Given the description of an element on the screen output the (x, y) to click on. 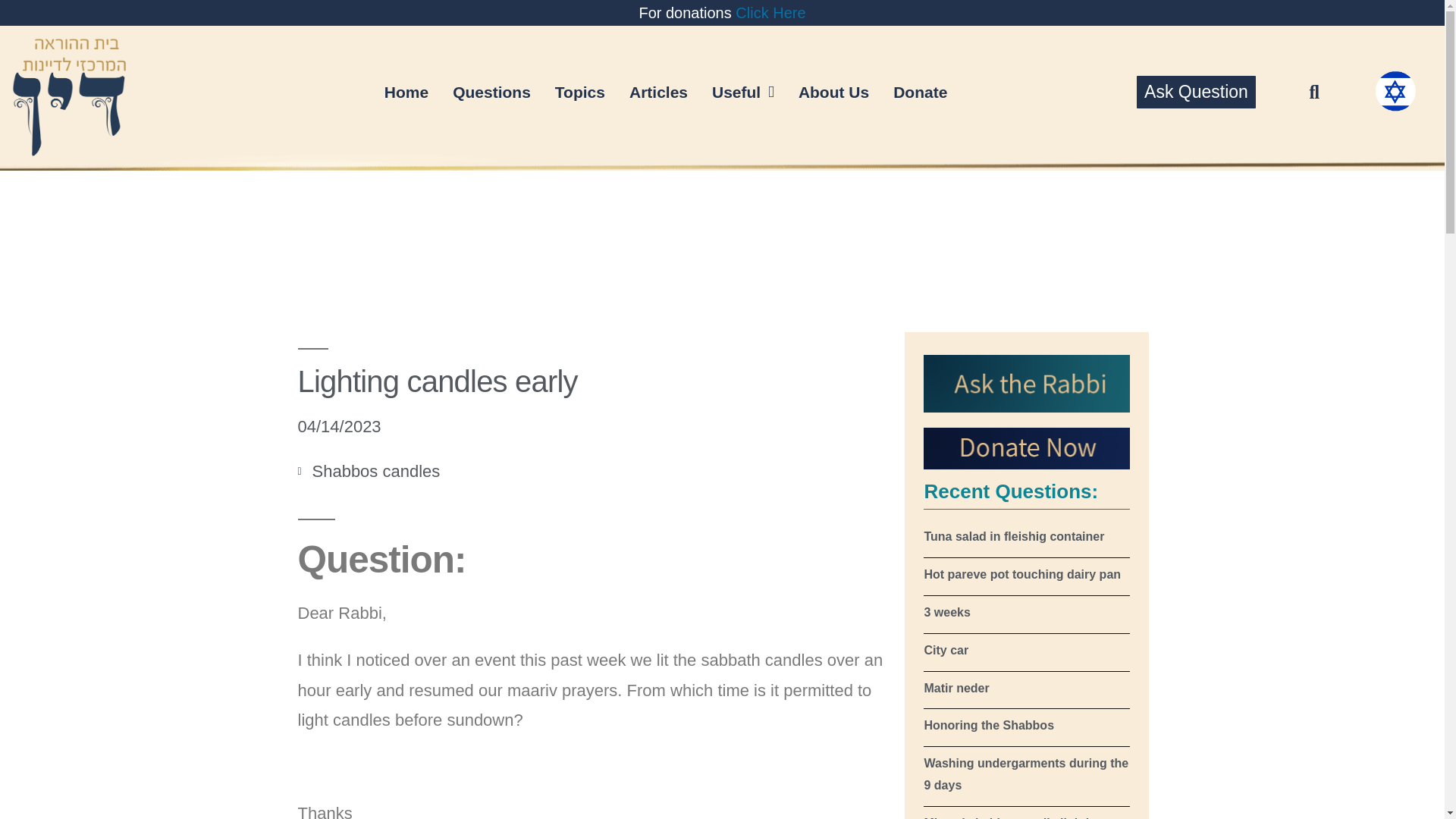
Shabbos candles (377, 470)
Questions (492, 91)
Ask Question (1196, 92)
Articles (658, 91)
Home (406, 91)
Useful (743, 91)
Topics (580, 91)
About Us (833, 91)
Donate (919, 91)
